Given the description of an element on the screen output the (x, y) to click on. 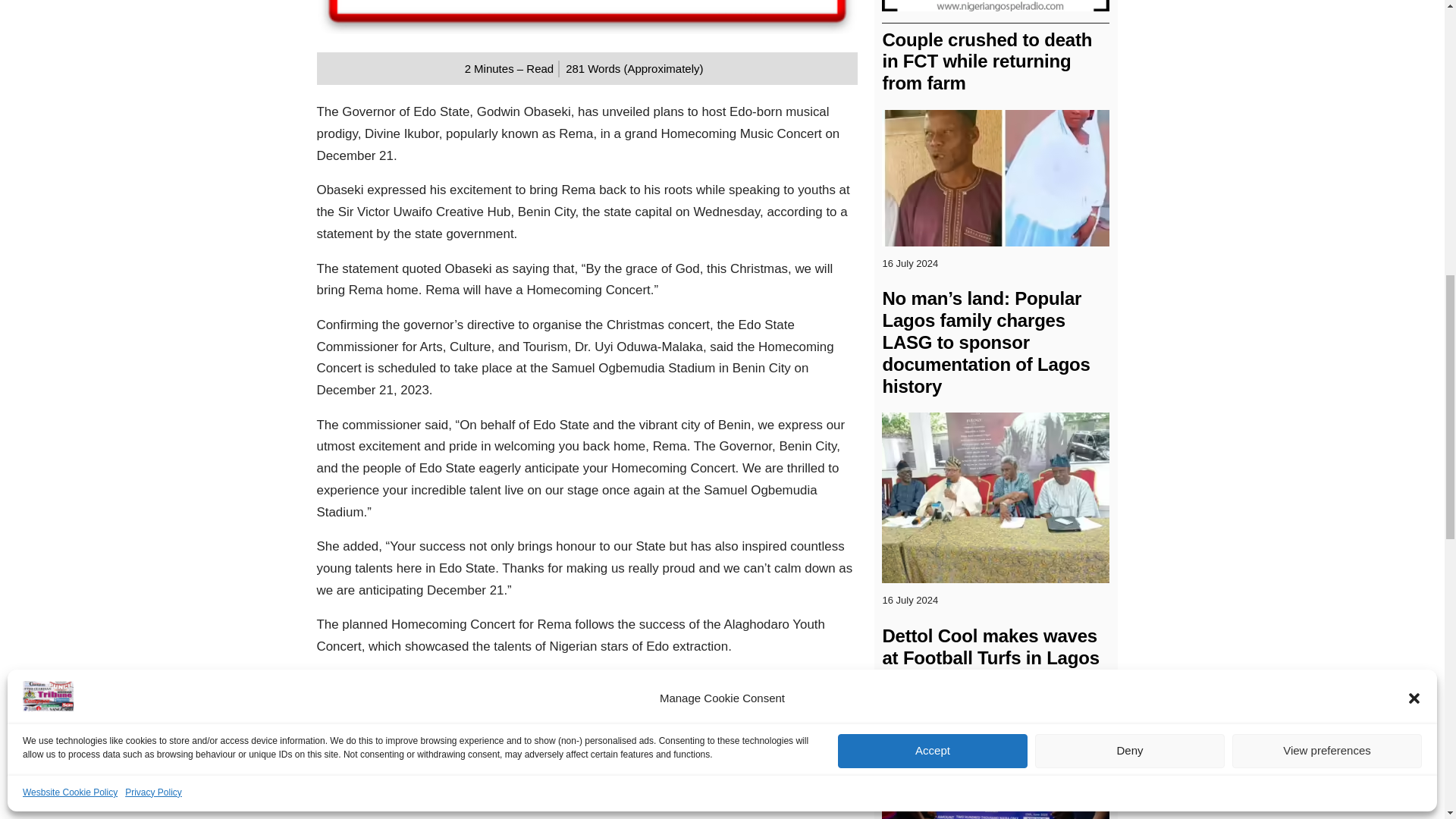
Headlines (349, 765)
Punch News (457, 765)
